Given the description of an element on the screen output the (x, y) to click on. 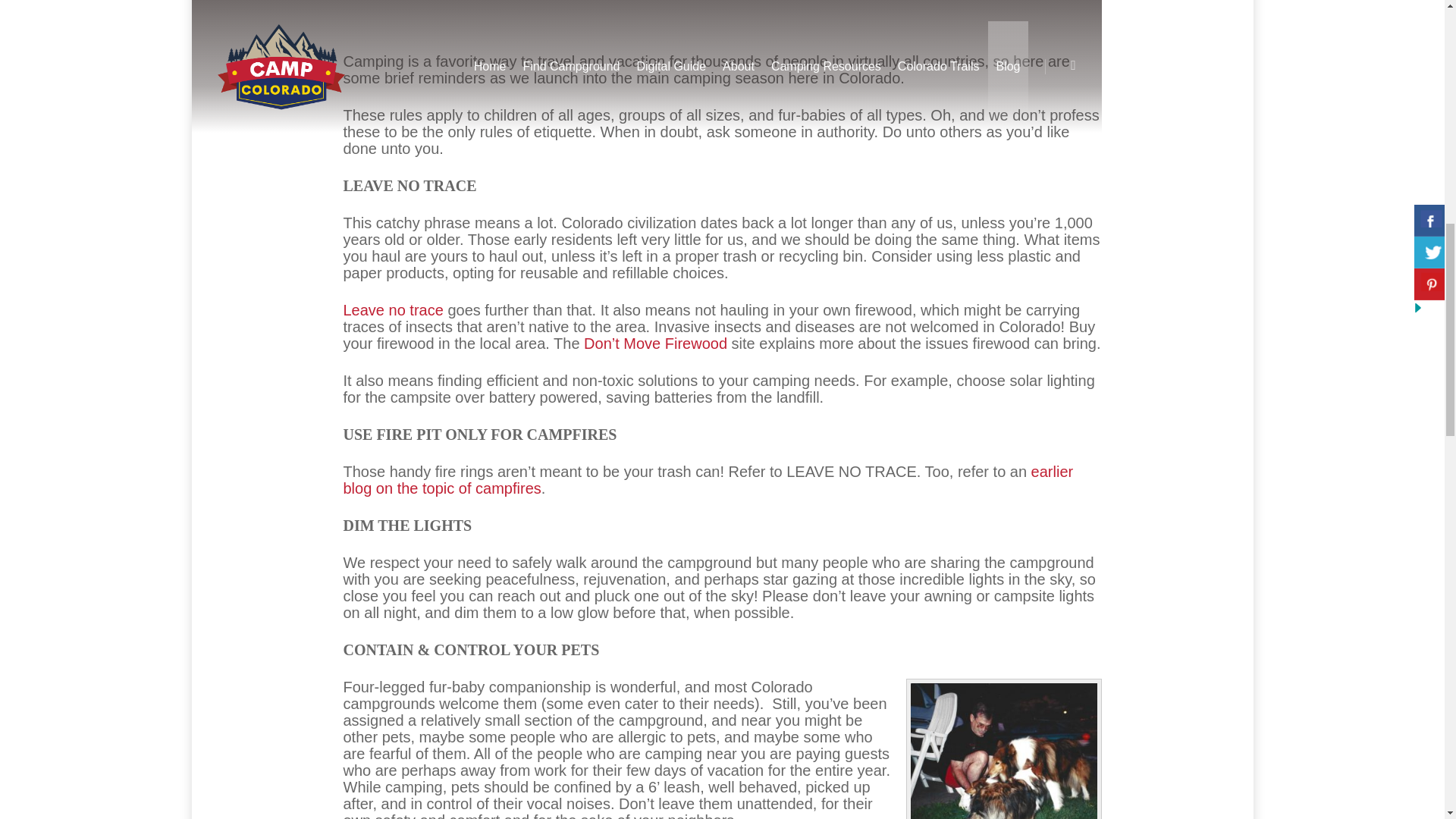
earlier blog on the topic of campfires (707, 479)
Leave no trace (392, 310)
